Given the description of an element on the screen output the (x, y) to click on. 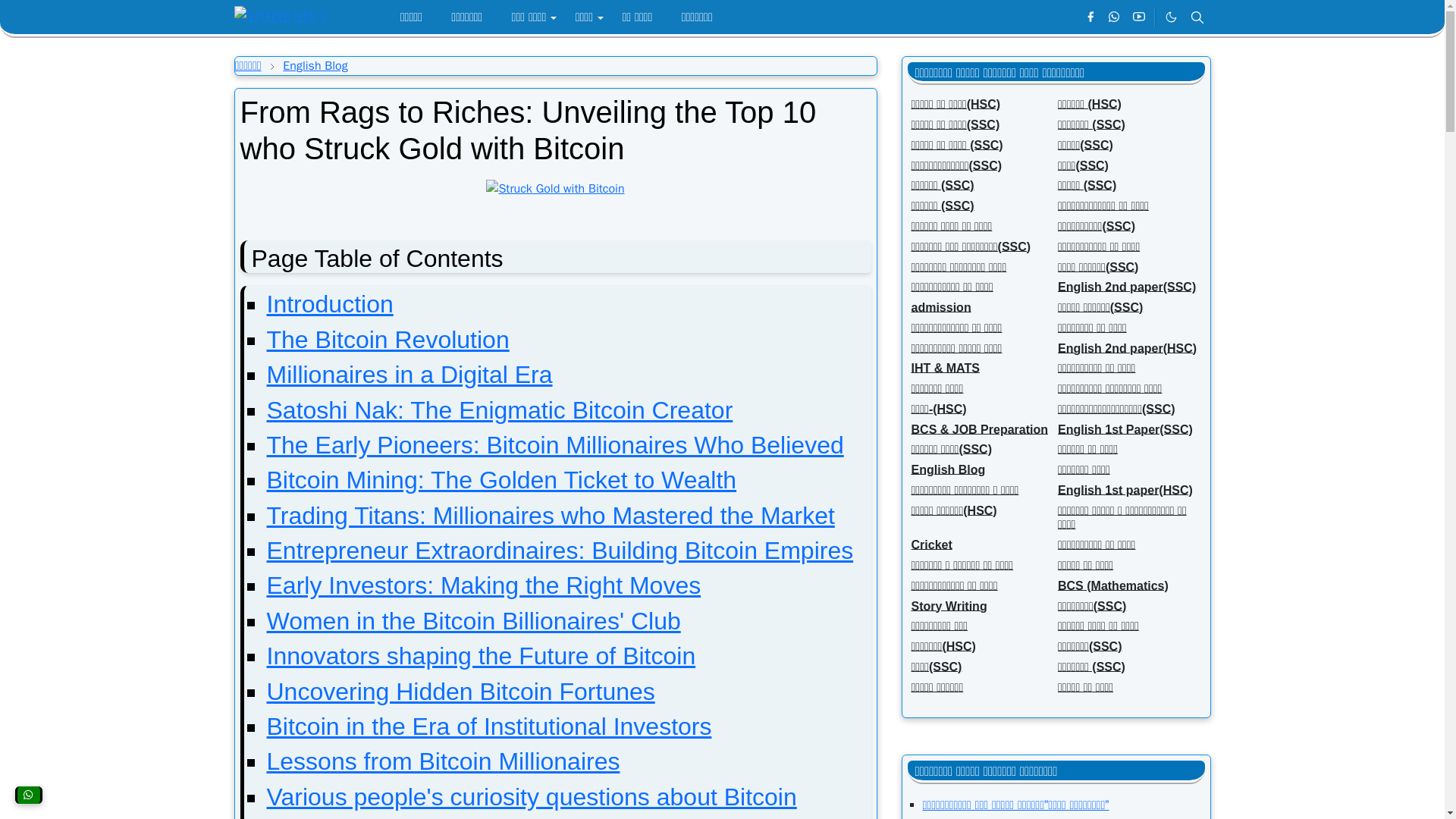
English Blog (314, 65)
Call or Chat Now (28, 794)
Home (248, 65)
English Blog (314, 65)
